Given the description of an element on the screen output the (x, y) to click on. 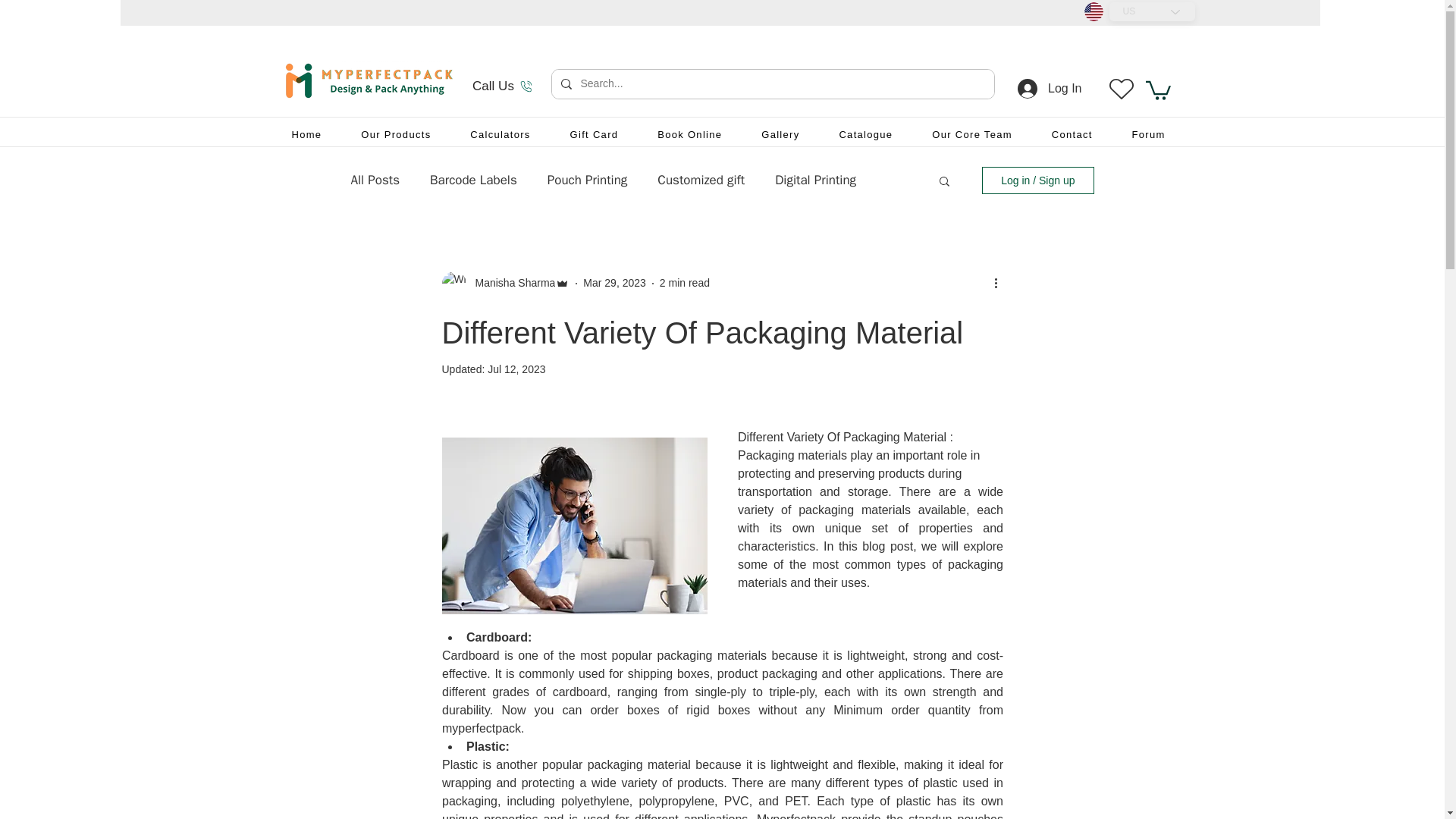
Manisha Sharma (509, 283)
Calculators (499, 135)
Mar 29, 2023 (614, 282)
Jul 12, 2023 (515, 369)
Catalogue (865, 135)
Call Us (502, 86)
2 min read (684, 282)
Gallery (779, 135)
Gift Card (593, 135)
Book Online (689, 135)
Our Products (394, 135)
Home (306, 135)
Log In (1049, 88)
